Given the description of an element on the screen output the (x, y) to click on. 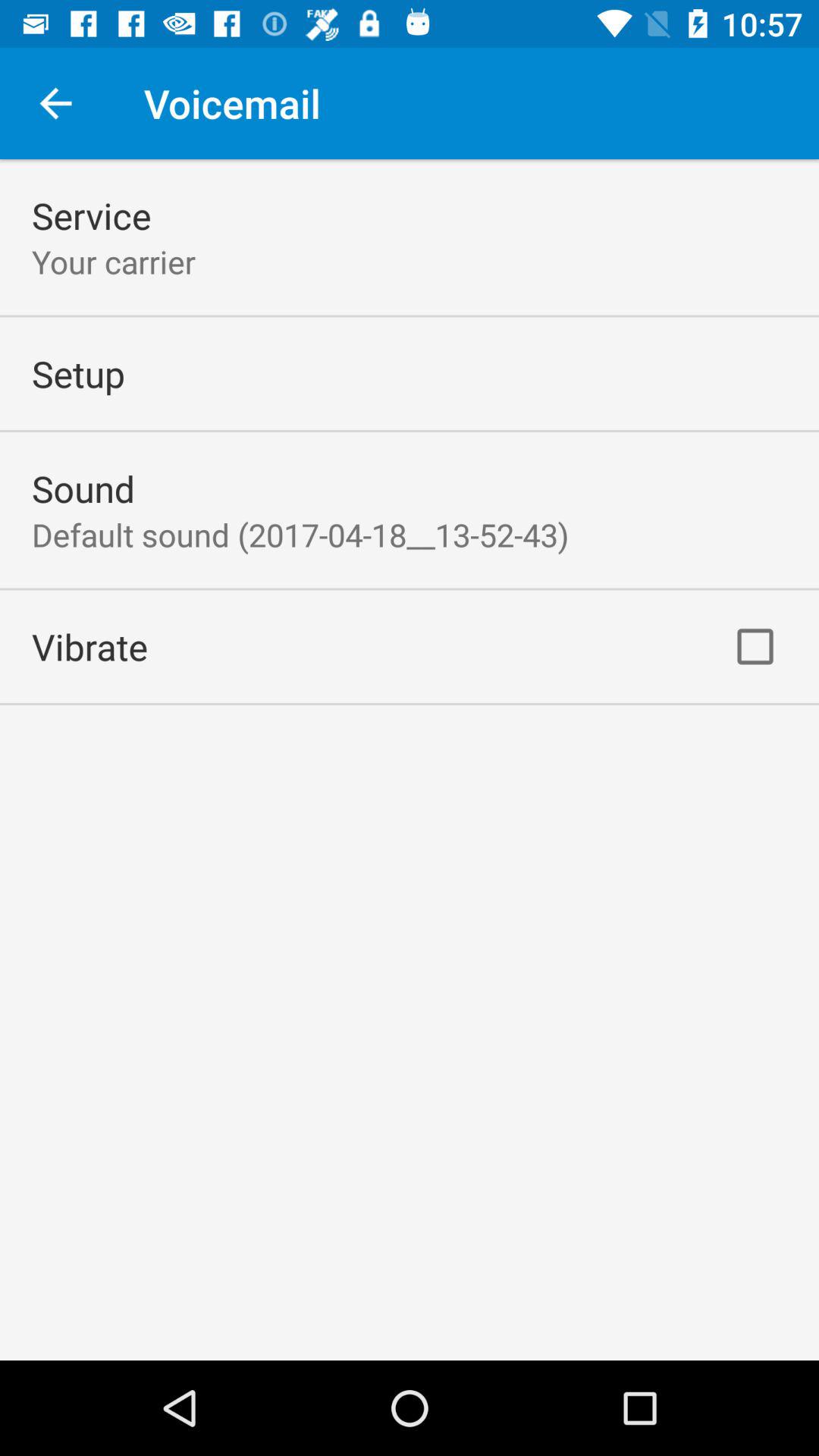
flip until service app (91, 215)
